Given the description of an element on the screen output the (x, y) to click on. 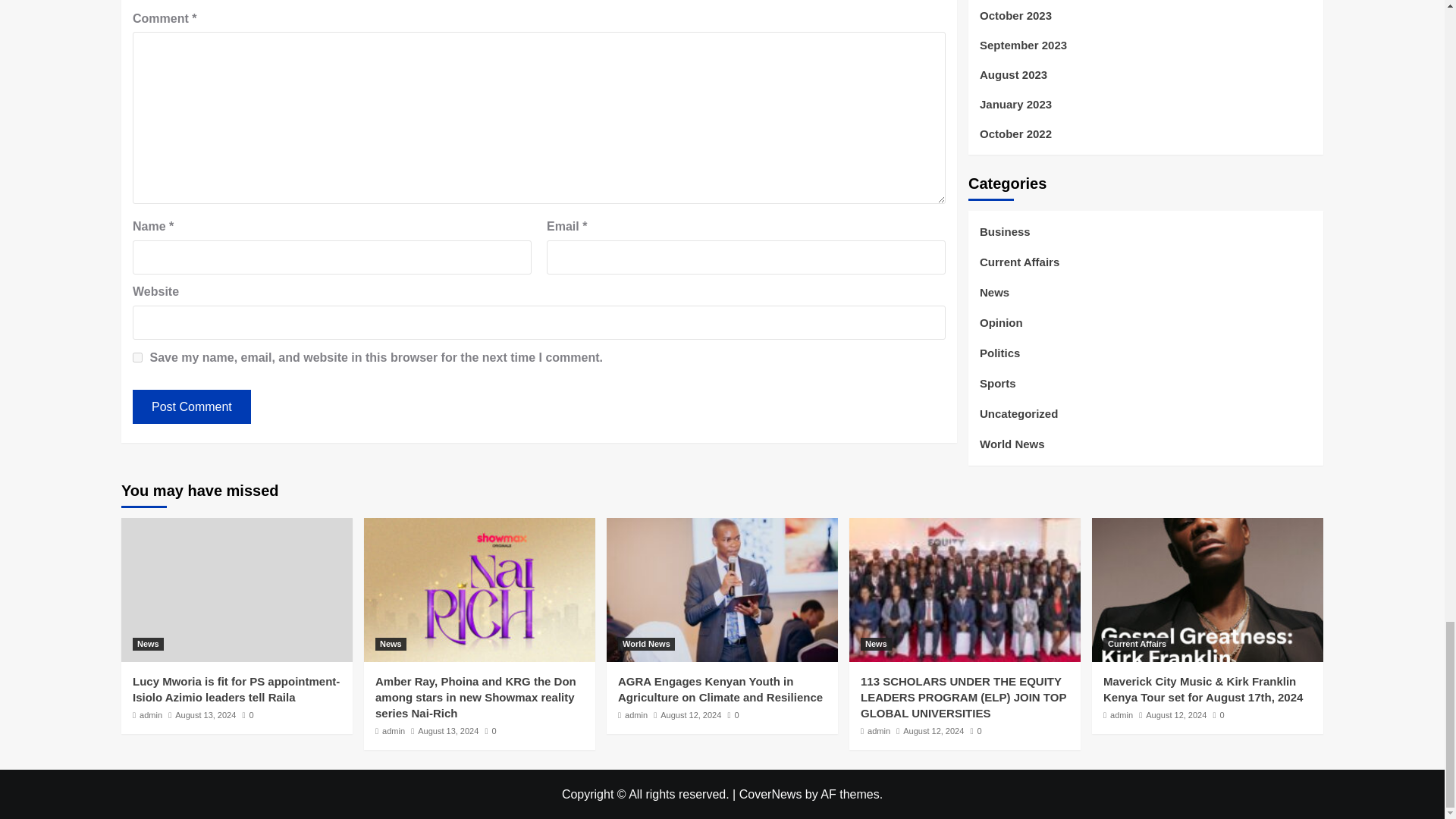
Post Comment (191, 406)
yes (137, 357)
Post Comment (191, 406)
